Given the description of an element on the screen output the (x, y) to click on. 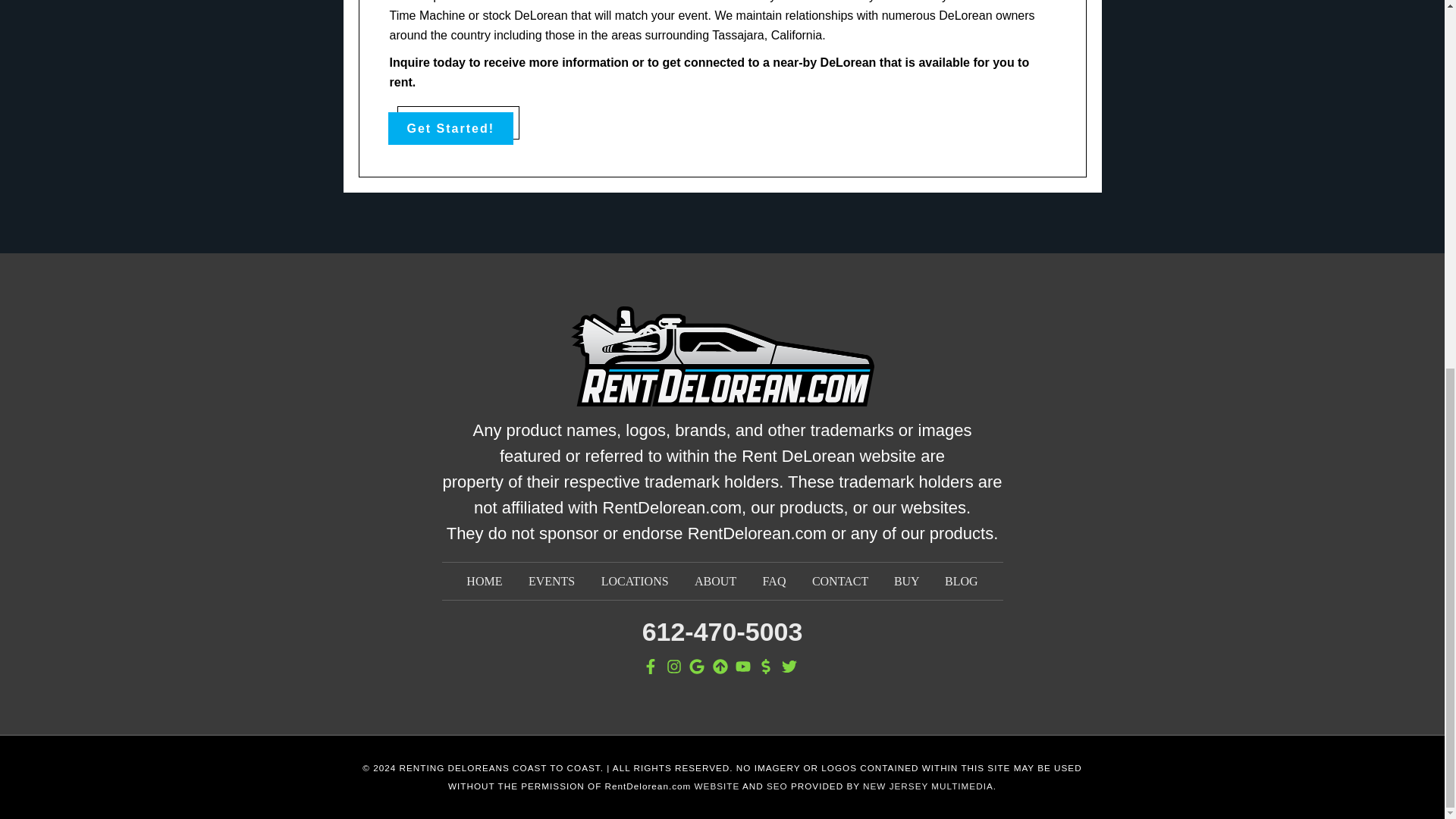
SEO (777, 786)
LOCATIONS (634, 580)
BUY (907, 580)
Get Started! (450, 128)
HOME (483, 580)
BLOG (961, 580)
WEBSITE (716, 786)
ABOUT (715, 580)
CONTACT (841, 580)
NEW JERSEY MULTIMEDIA. (929, 786)
EVENTS (551, 580)
FAQ (774, 580)
